Given the description of an element on the screen output the (x, y) to click on. 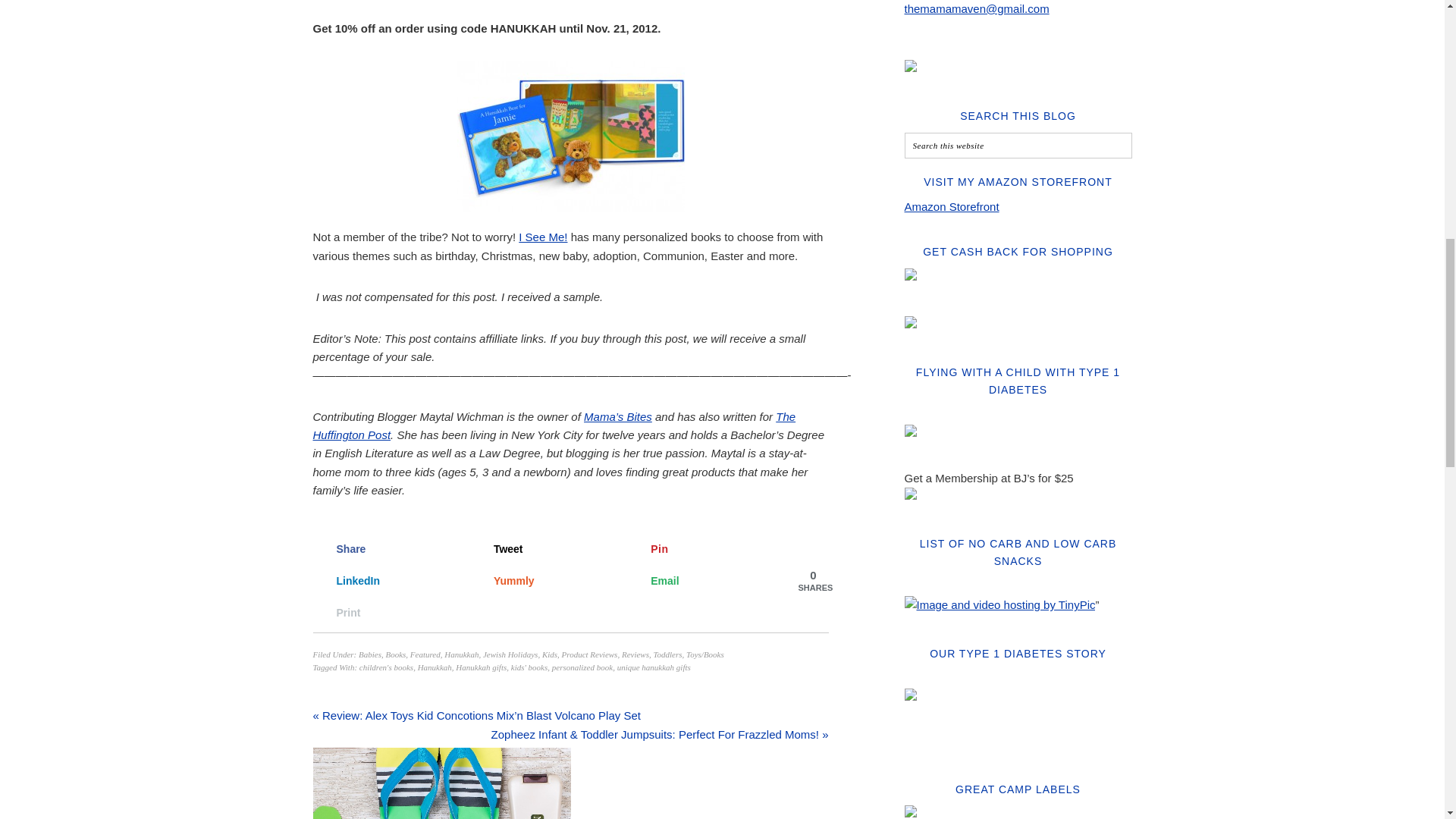
Send over email (700, 580)
Share on Yummly (543, 580)
Share on Facebook (386, 549)
hanukkah open book (570, 135)
Share on X (543, 549)
Print this webpage (386, 612)
Save to Pinterest (700, 549)
Share on LinkedIn (386, 580)
